Given the description of an element on the screen output the (x, y) to click on. 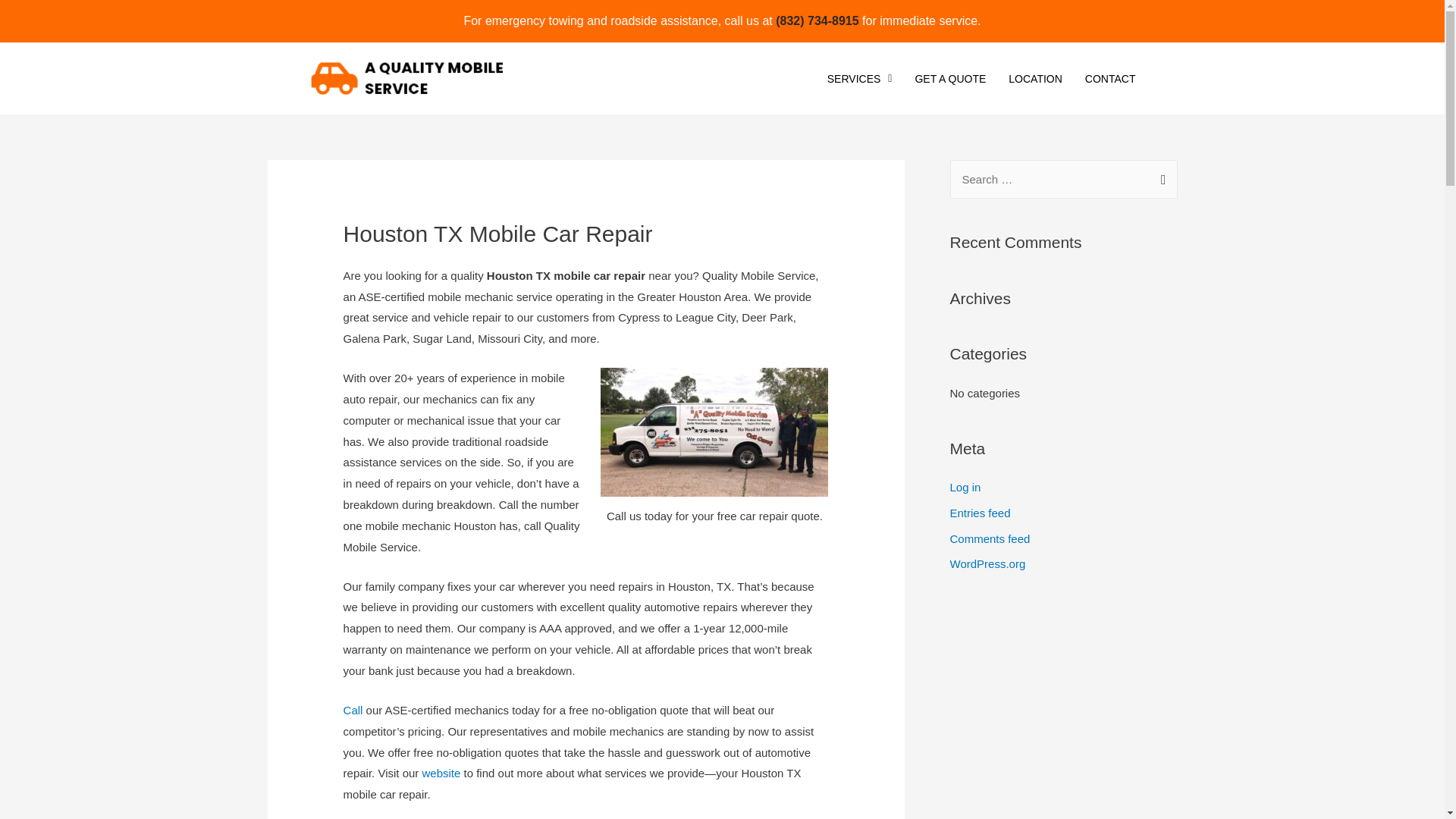
SERVICES (859, 78)
Log in (964, 486)
Comments feed (989, 538)
LOCATION (1035, 78)
Call (352, 709)
mobile-mechanic-near-me-houston-logo (405, 78)
Entries feed (979, 512)
CONTACT (1110, 78)
Search (1159, 174)
GET A QUOTE (949, 78)
website (441, 772)
Search (1159, 174)
Search (1159, 174)
WordPress.org (987, 563)
